Given the description of an element on the screen output the (x, y) to click on. 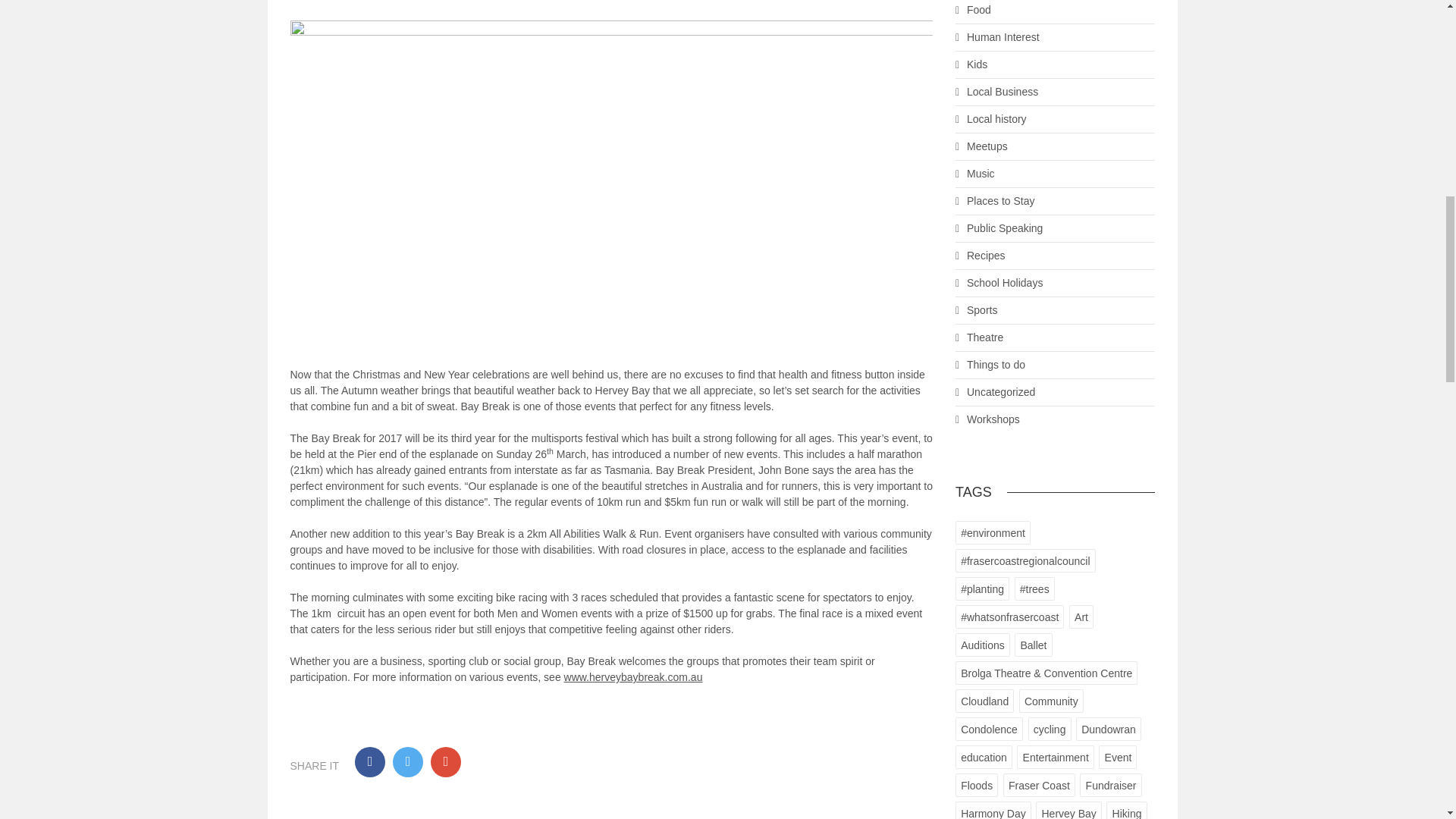
Share on Twitter (408, 761)
Share on Google Plus (445, 761)
Share on Facebook (370, 761)
